Given the description of an element on the screen output the (x, y) to click on. 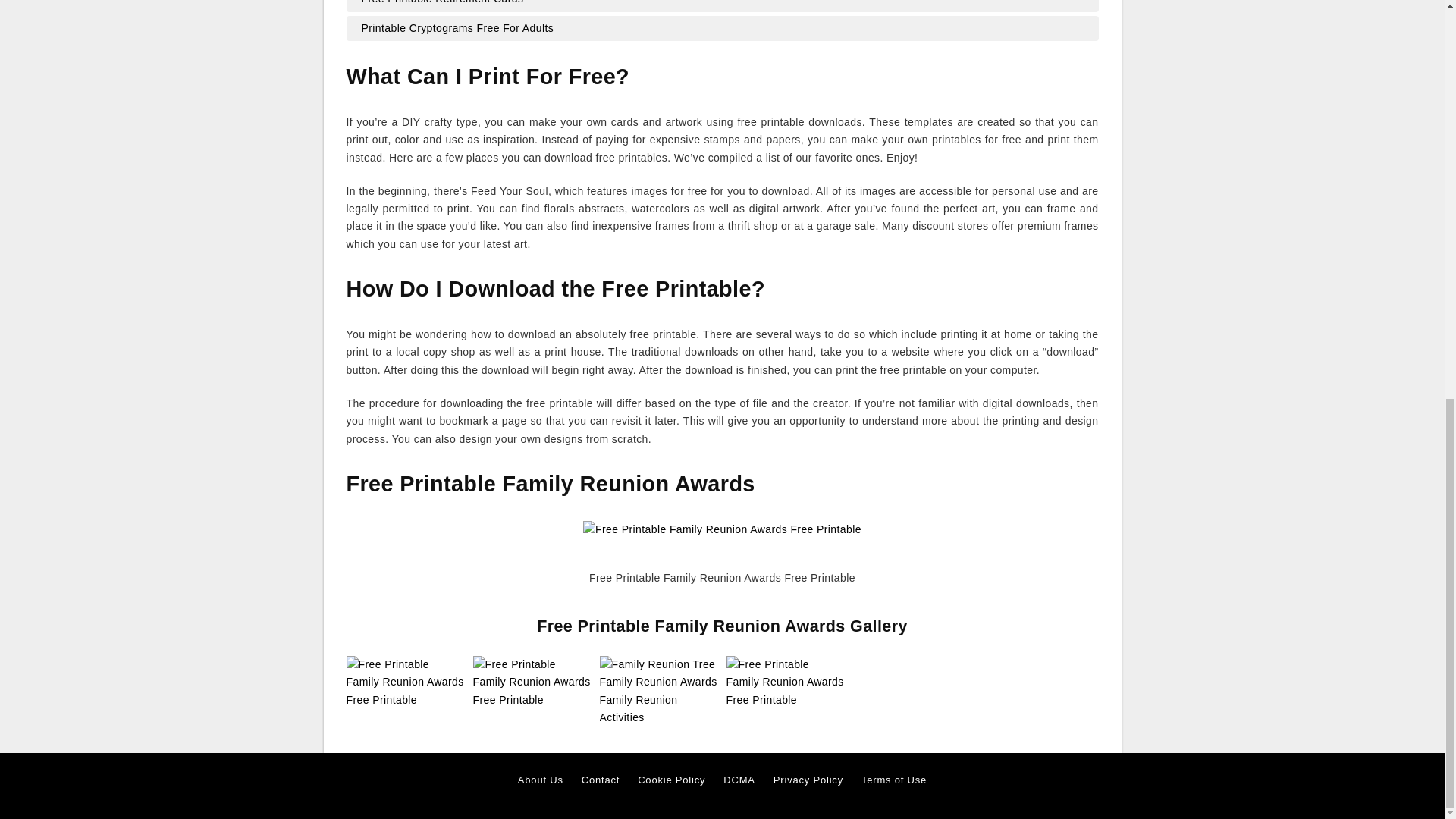
Free Printable Family Reunion Awards Free Printable (405, 681)
Free Printable Family Reunion Awards Free Printable (785, 681)
Free Printable Family Reunion Awards Free Printable (405, 682)
Terms of Use (893, 780)
Printable Cryptograms Free For Adults (721, 28)
Contact (600, 780)
About Us (540, 780)
Free Printable Family Reunion Awards Free Printable (532, 681)
